Given the description of an element on the screen output the (x, y) to click on. 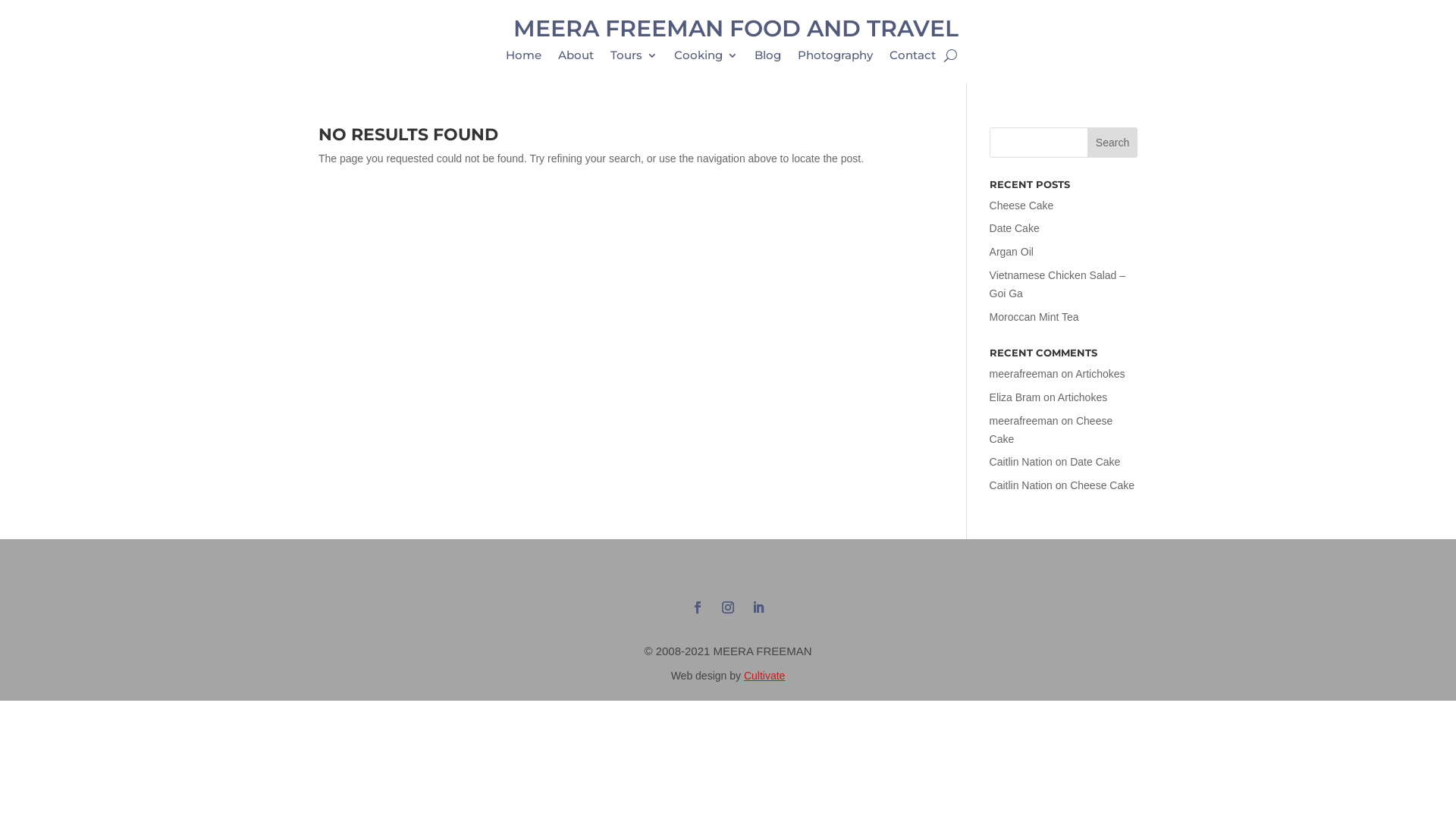
Follow on Instagram Element type: hover (727, 607)
Photography Element type: text (834, 58)
Tours Element type: text (633, 58)
meerafreeman Element type: text (1023, 420)
Blog Element type: text (767, 58)
Artichokes Element type: text (1099, 373)
Cheese Cake Element type: text (1102, 485)
Search Element type: text (1112, 142)
Follow on LinkedIn Element type: hover (758, 607)
Cooking Element type: text (705, 58)
Moroccan Mint Tea Element type: text (1034, 316)
Eliza Bram Element type: text (1015, 397)
Cultivate Element type: text (763, 675)
meerafreeman Element type: text (1023, 373)
Contact Element type: text (912, 58)
Artichokes Element type: text (1082, 397)
Cheese Cake Element type: text (1021, 205)
Follow on Facebook Element type: hover (697, 607)
Cheese Cake Element type: text (1051, 429)
About Element type: text (575, 58)
Argan Oil Element type: text (1011, 251)
Date Cake Element type: text (1014, 228)
Date Cake Element type: text (1095, 461)
Home Element type: text (523, 58)
